Given the description of an element on the screen output the (x, y) to click on. 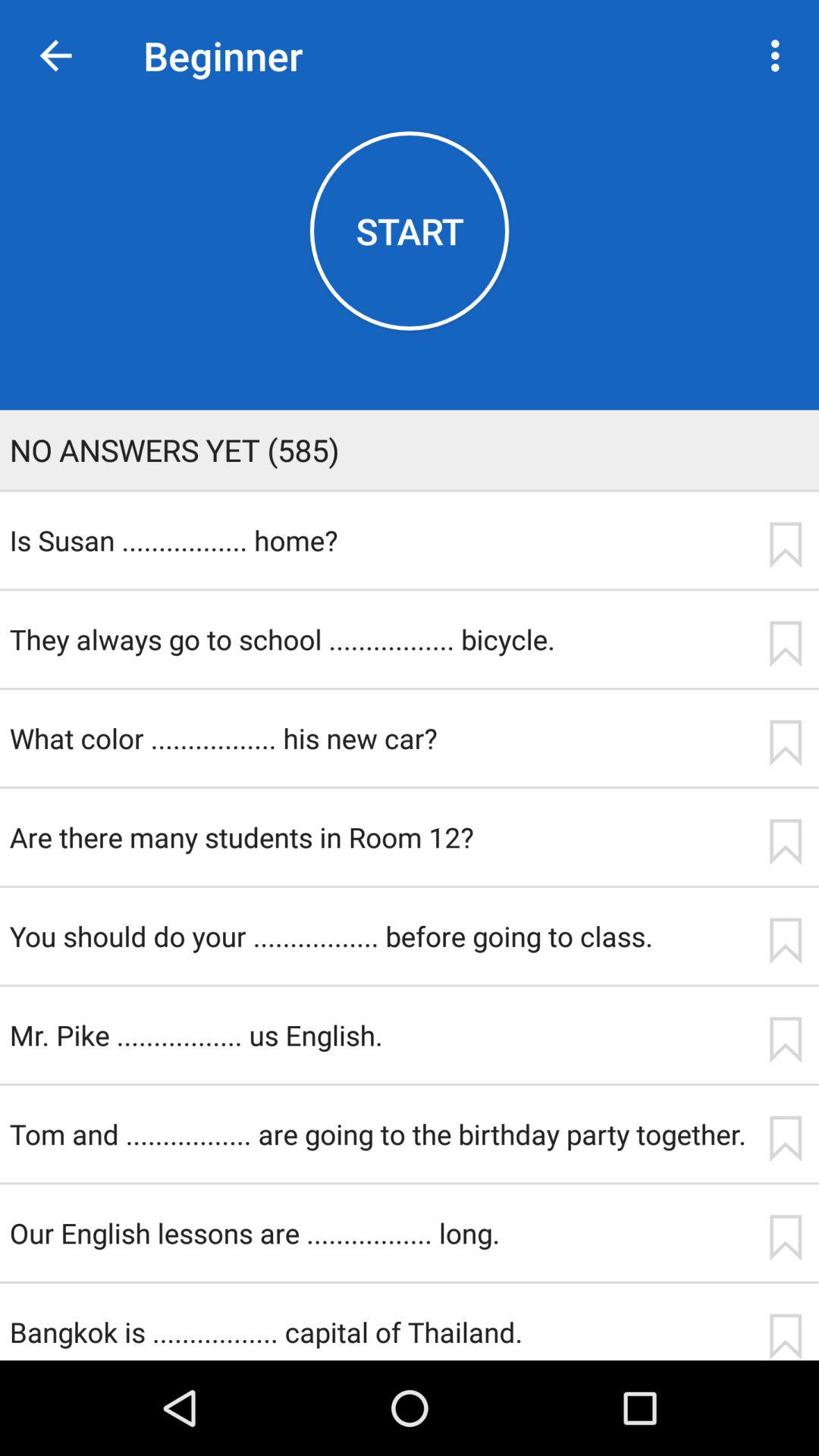
turn off the app next to our english lessons app (784, 1237)
